Given the description of an element on the screen output the (x, y) to click on. 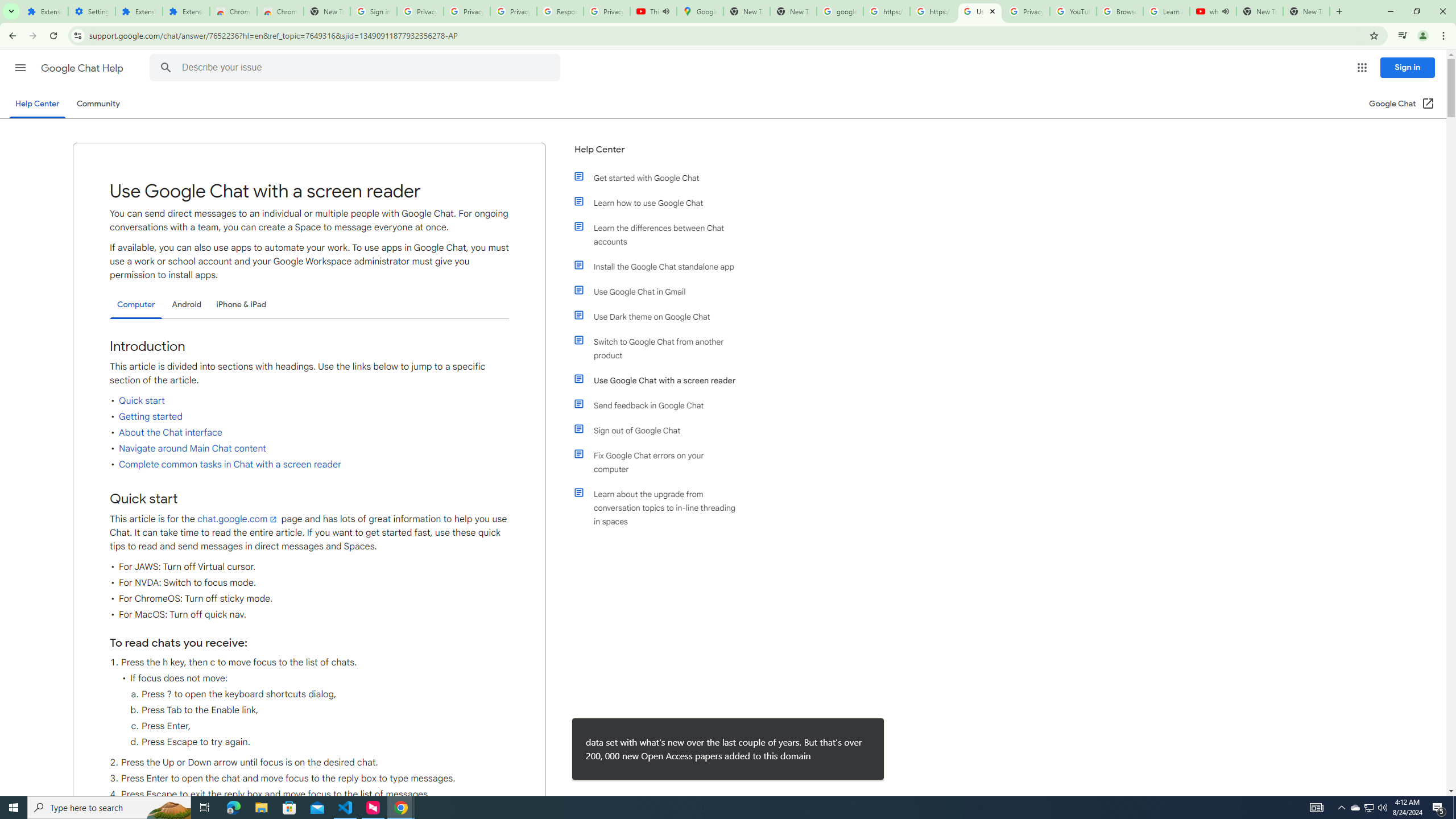
Get started with Google Chat (661, 177)
Community (97, 103)
Getting started (150, 416)
https://scholar.google.com/ (886, 11)
Extensions (44, 11)
Fix Google Chat errors on your computer (661, 462)
https://scholar.google.com/ (933, 11)
New Tab (326, 11)
